Given the description of an element on the screen output the (x, y) to click on. 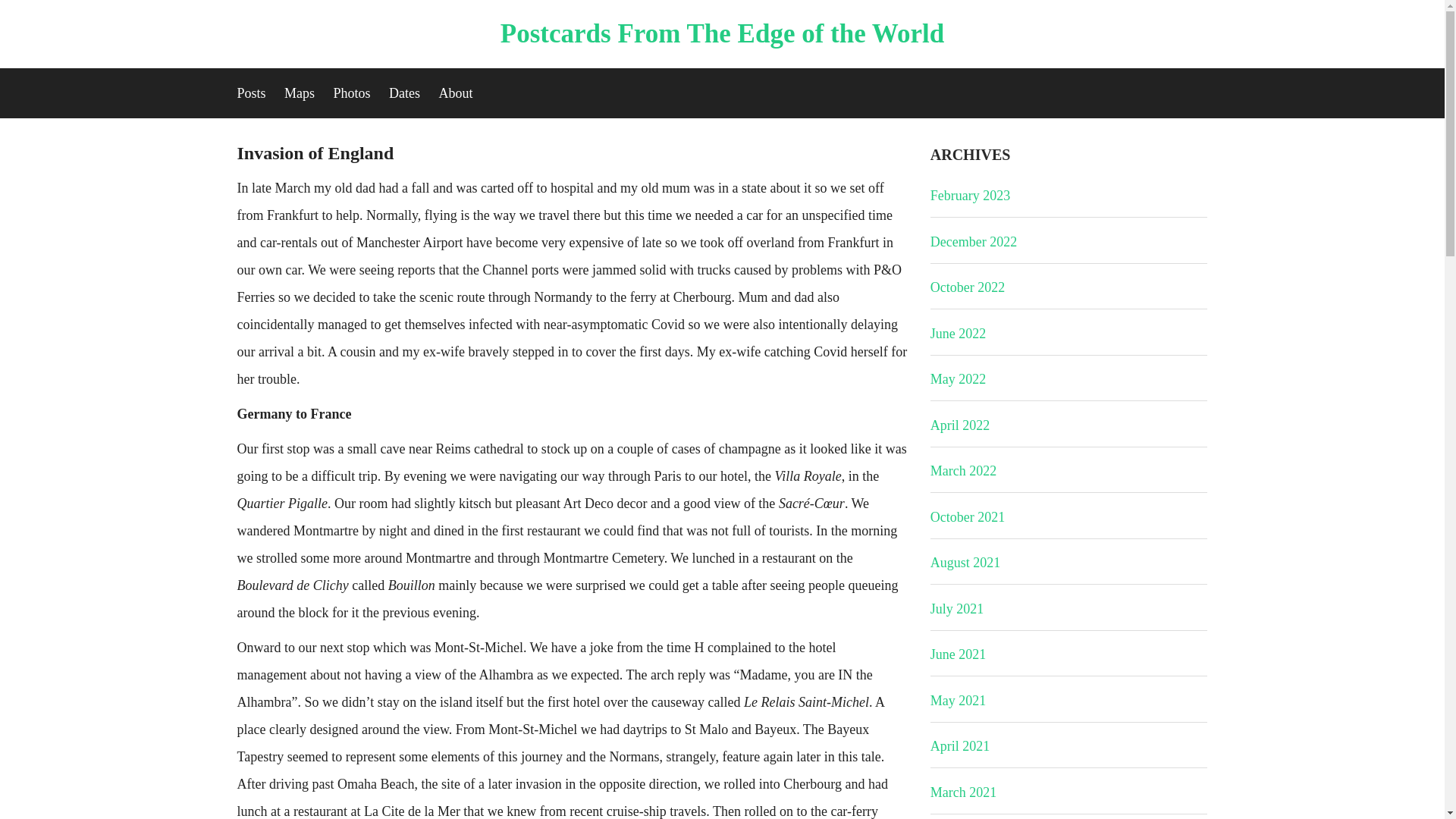
February 2023 (970, 195)
October 2022 (967, 287)
April 2022 (960, 424)
June 2022 (958, 333)
Invasion of England (314, 152)
May 2022 (958, 378)
Postcards From The Edge of the World (721, 33)
December 2022 (973, 240)
